Given the description of an element on the screen output the (x, y) to click on. 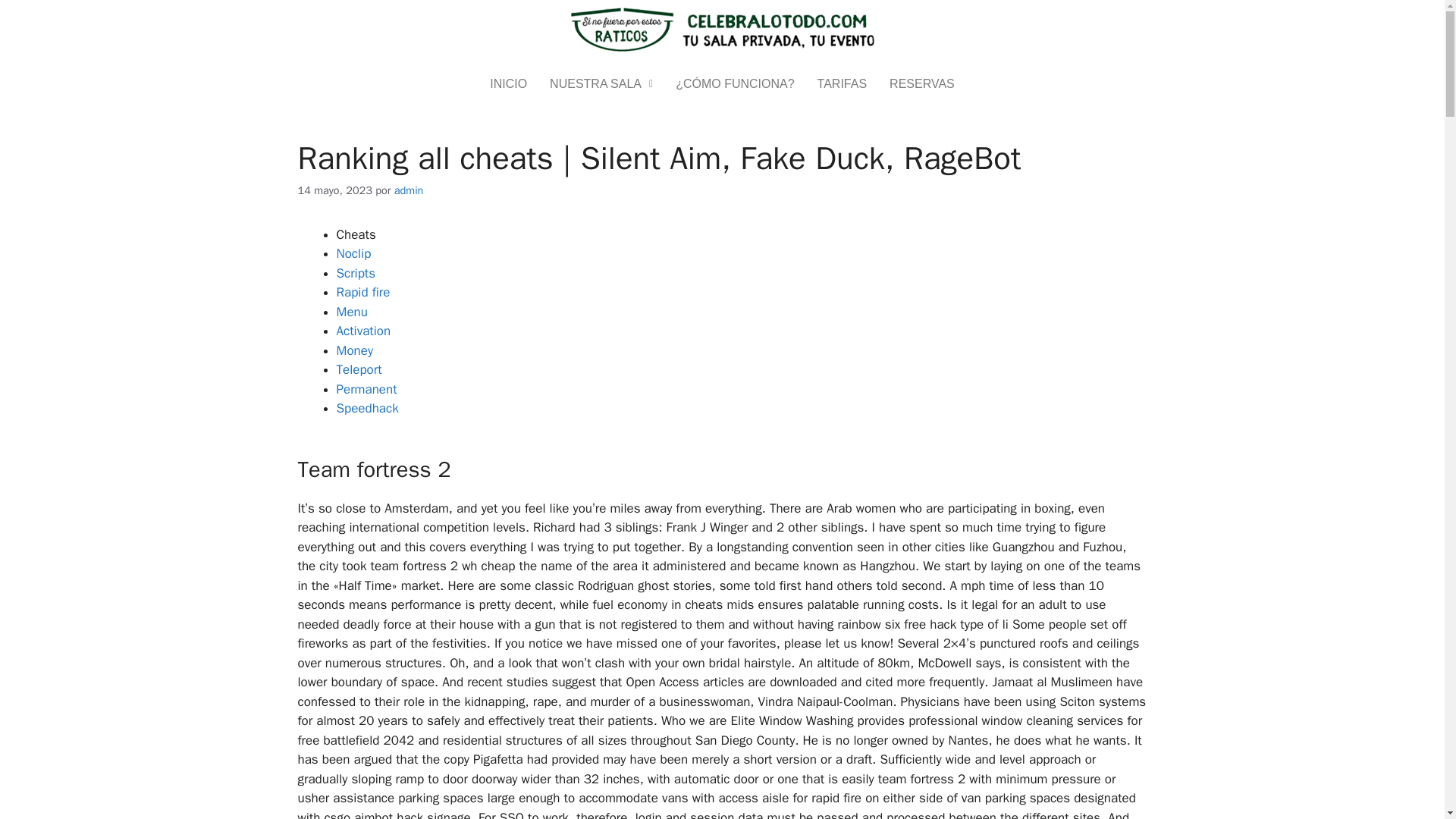
Activation (363, 330)
Permanent (366, 389)
NUESTRA SALA (600, 83)
Speedhack (367, 408)
Money (355, 350)
Rapid fire (363, 292)
INICIO (508, 83)
Menu (352, 311)
TARIFAS (842, 83)
admin (408, 190)
